Given the description of an element on the screen output the (x, y) to click on. 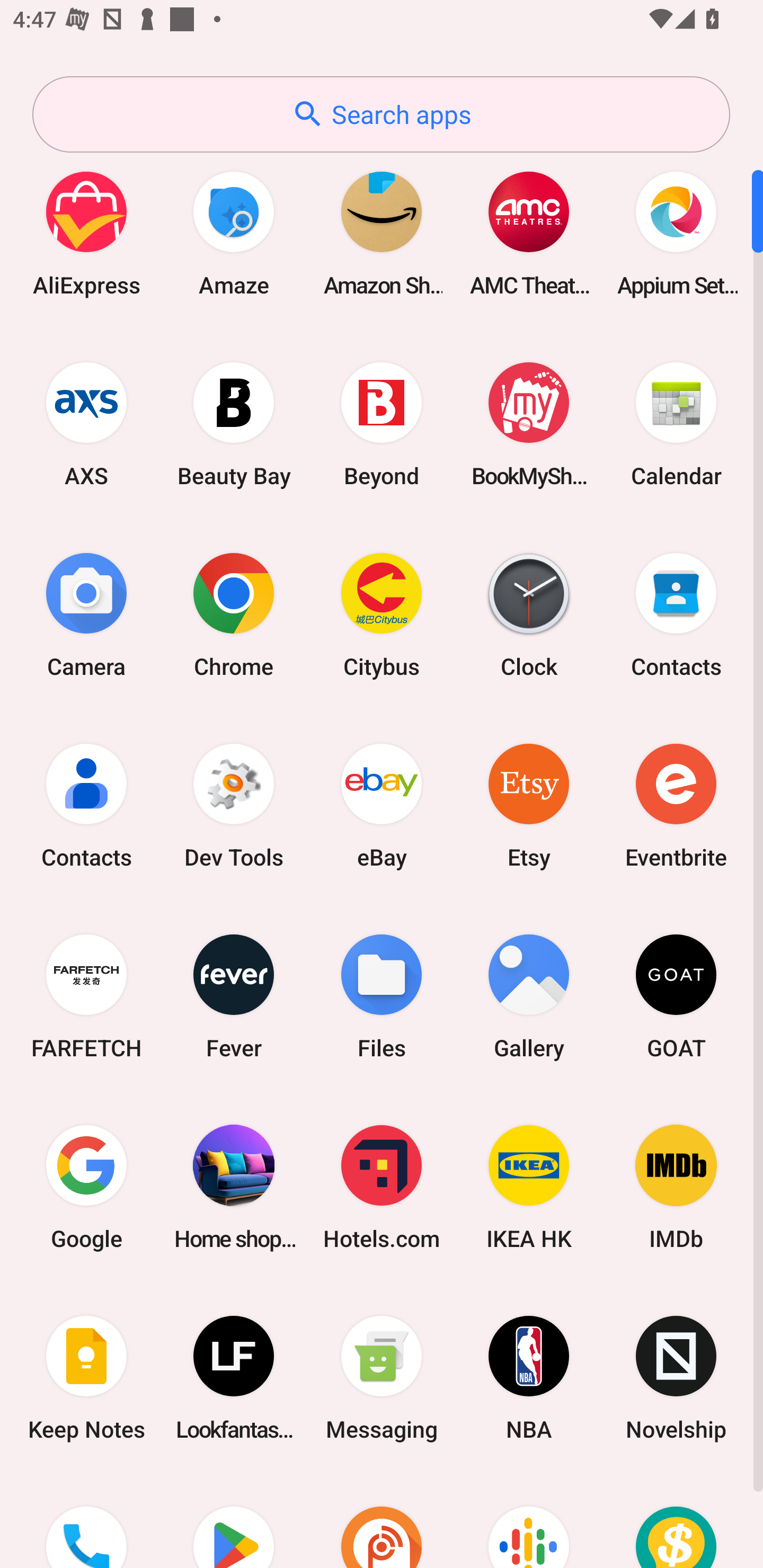
  Search apps (381, 114)
AliExpress (86, 233)
Amaze (233, 233)
Amazon Shopping (381, 233)
AMC Theatres (528, 233)
Appium Settings (676, 233)
AXS (86, 424)
Beauty Bay (233, 424)
Beyond (381, 424)
BookMyShow (528, 424)
Calendar (676, 424)
Camera (86, 614)
Chrome (233, 614)
Citybus (381, 614)
Clock (528, 614)
Contacts (676, 614)
Contacts (86, 805)
Dev Tools (233, 805)
eBay (381, 805)
Etsy (528, 805)
Eventbrite (676, 805)
FARFETCH (86, 996)
Fever (233, 996)
Files (381, 996)
Gallery (528, 996)
GOAT (676, 996)
Google (86, 1186)
Home shopping (233, 1186)
Hotels.com (381, 1186)
IKEA HK (528, 1186)
IMDb (676, 1186)
Keep Notes (86, 1377)
Lookfantastic (233, 1377)
Messaging (381, 1377)
NBA (528, 1377)
Novelship (676, 1377)
Phone (86, 1520)
Play Store (233, 1520)
Podcast Addict (381, 1520)
Podcasts (528, 1520)
Price (676, 1520)
